Given the description of an element on the screen output the (x, y) to click on. 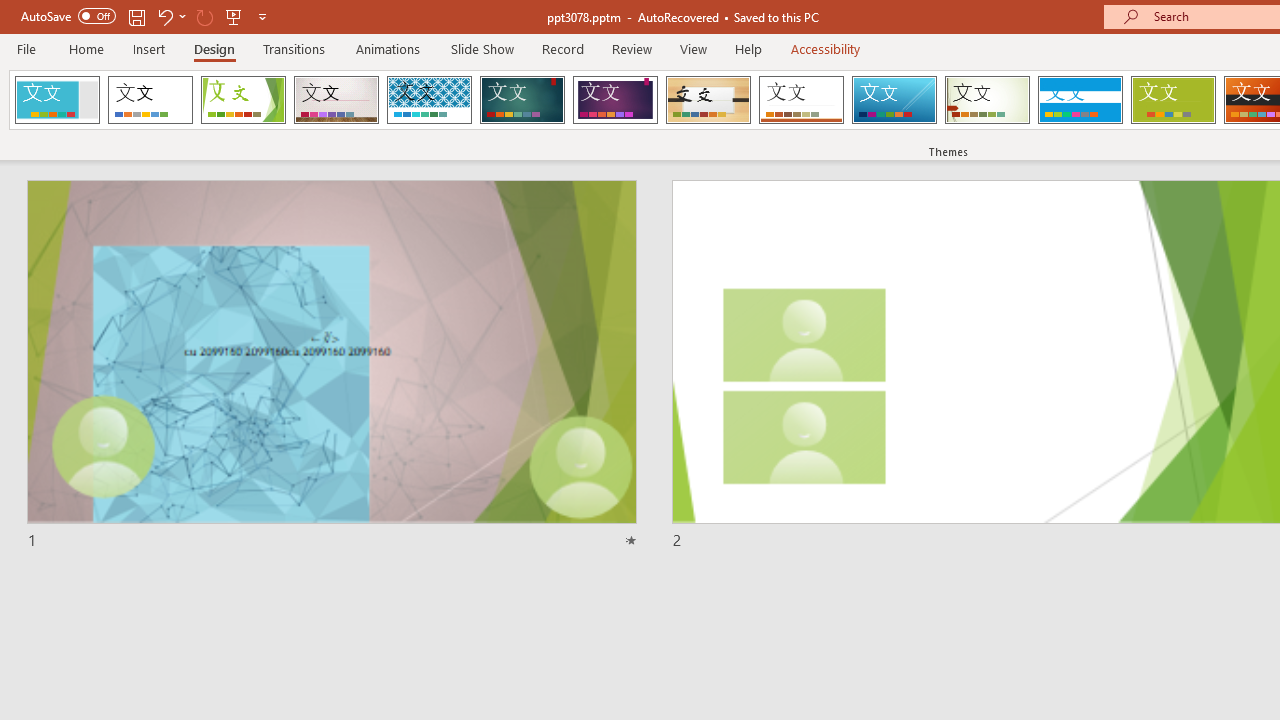
Ion Boardroom (615, 100)
Office Theme (150, 100)
Basis (1172, 100)
Integral (429, 100)
Slice (893, 100)
Retrospect (801, 100)
Facet (243, 100)
